Given the description of an element on the screen output the (x, y) to click on. 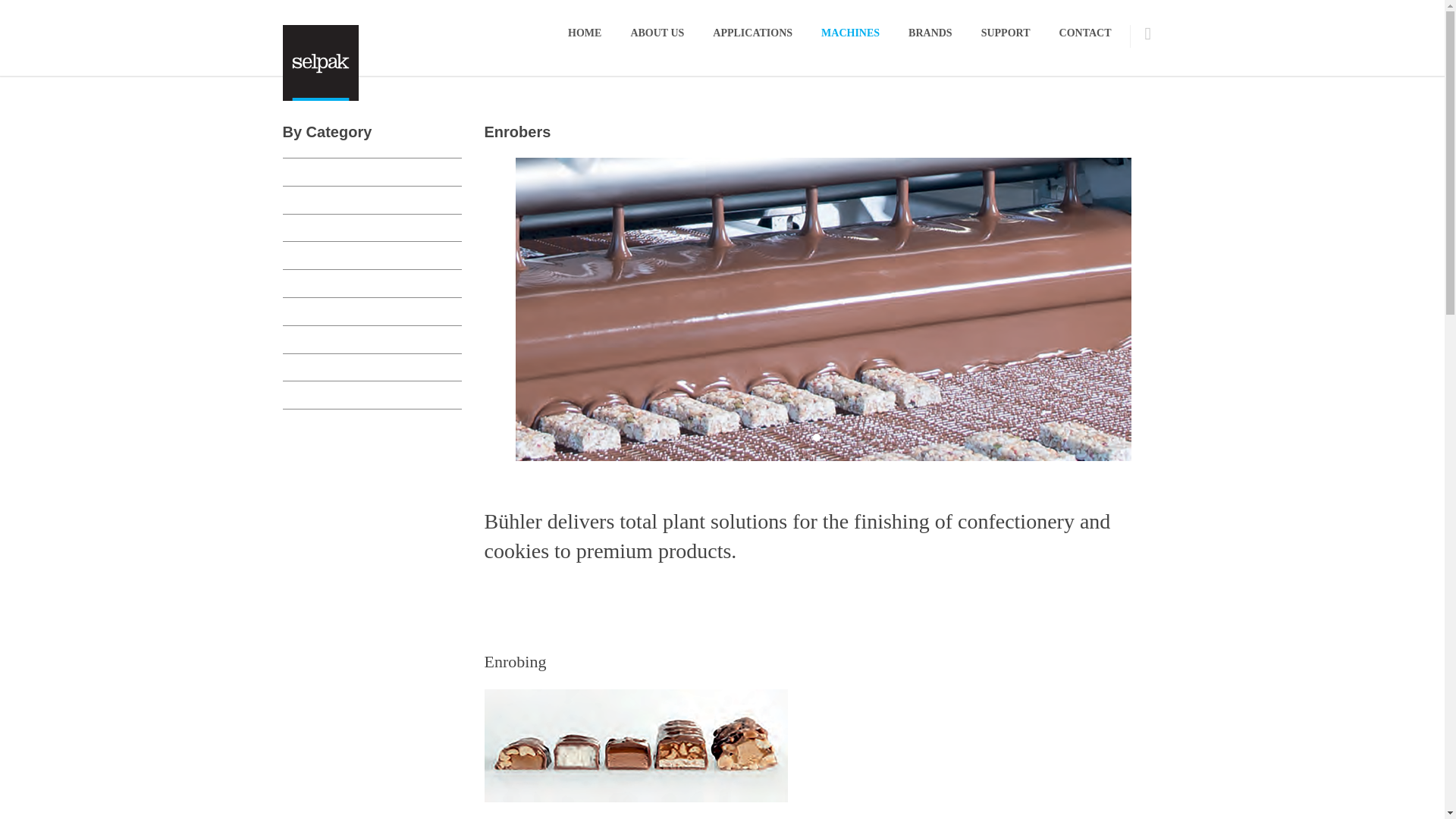
ABOUT US (656, 33)
SUPPORT (1005, 33)
BRANDS (929, 33)
MACHINES (849, 33)
APPLICATIONS (752, 33)
HOME (584, 33)
CONTACT (1085, 33)
